Given the description of an element on the screen output the (x, y) to click on. 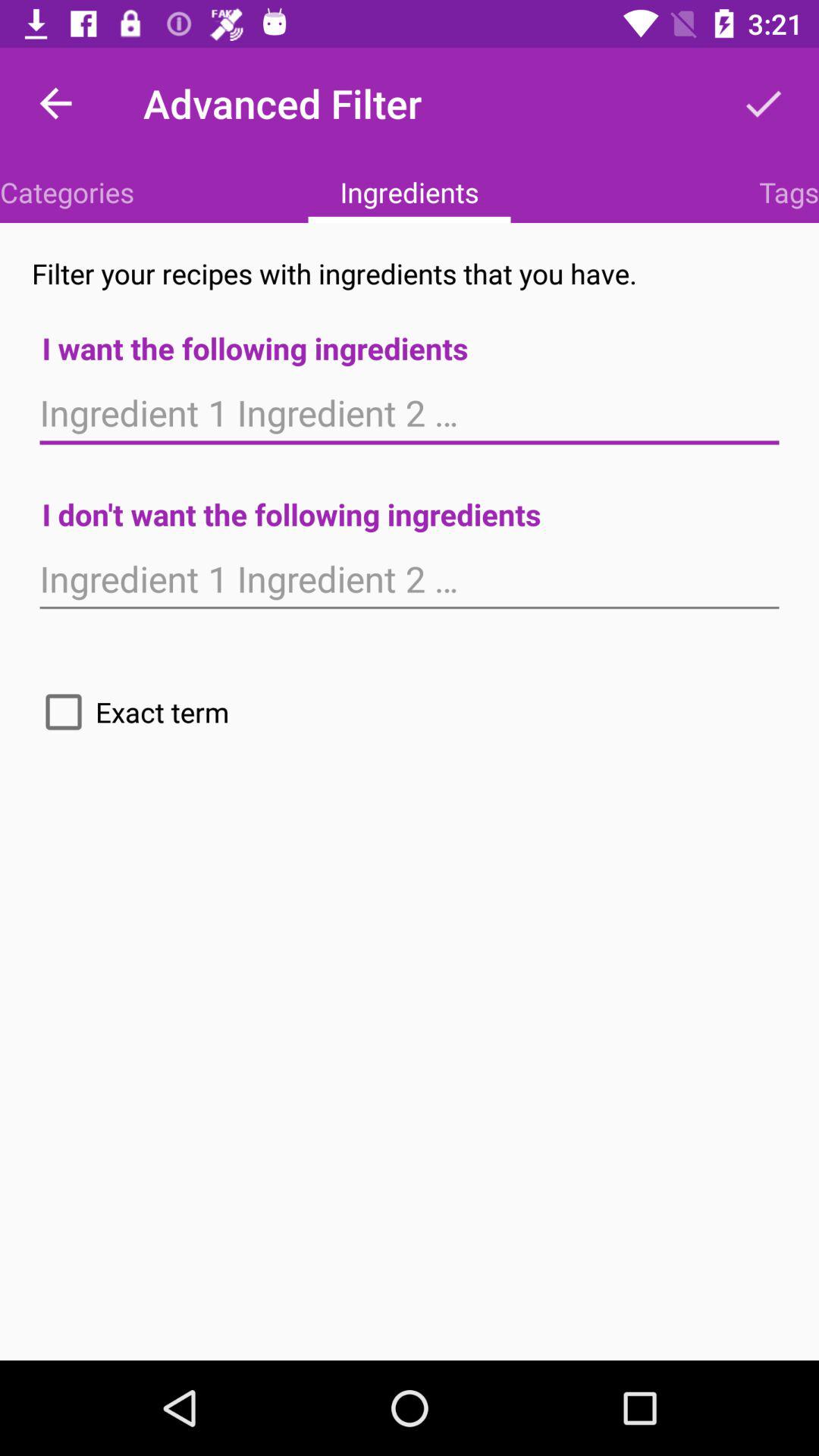
open item to the right of advanced filter item (763, 103)
